Given the description of an element on the screen output the (x, y) to click on. 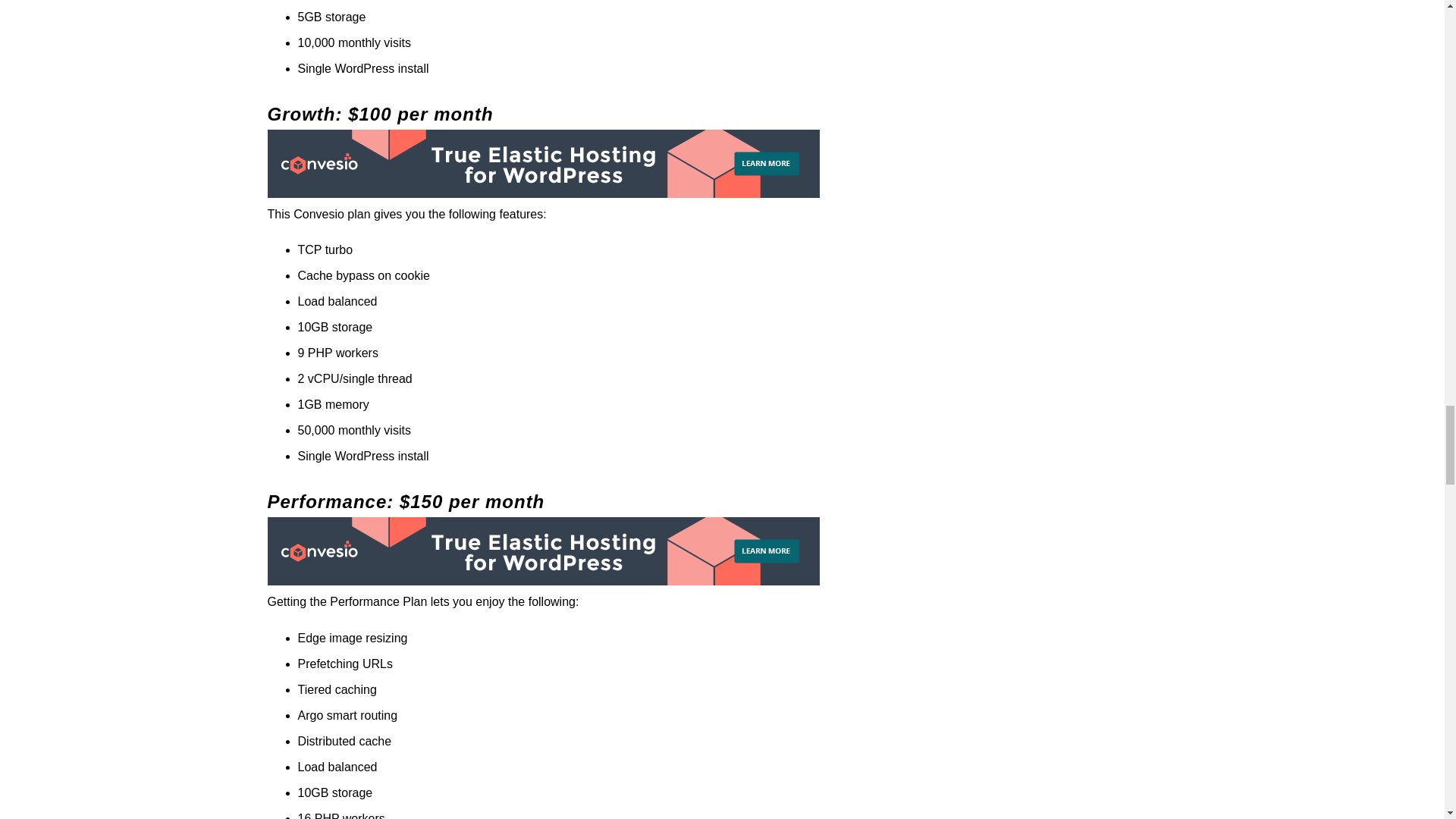
Best WordPress Hosting Convesio Review 2023 (542, 163)
Best WordPress Hosting Convesio Review 2023 (542, 550)
